Given the description of an element on the screen output the (x, y) to click on. 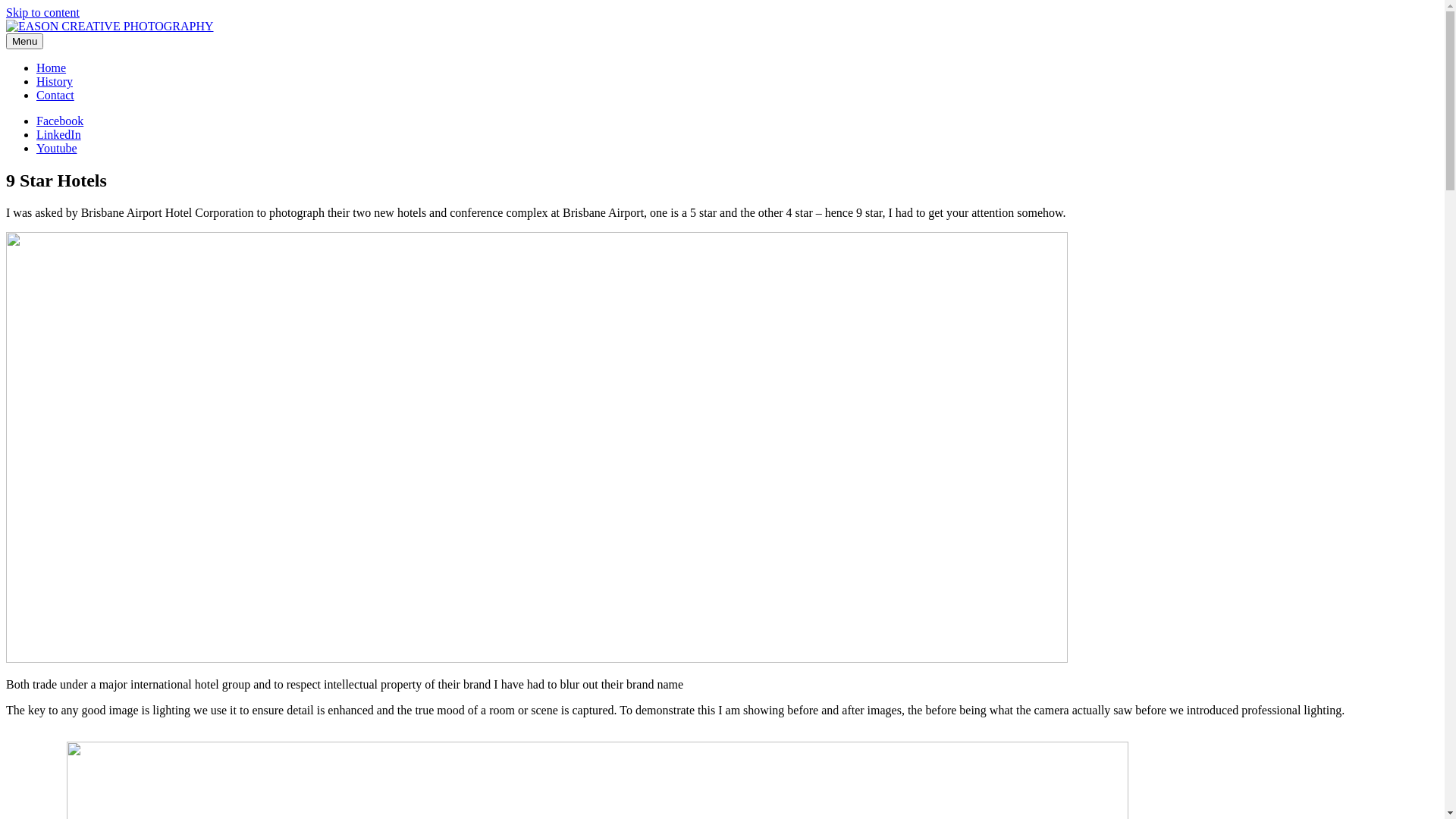
LinkedIn Element type: text (58, 134)
EASON CREATIVE PHOTOGRAPHY Element type: text (103, 51)
Facebook Element type: text (59, 120)
Skip to content Element type: text (42, 12)
Contact Element type: text (55, 94)
History Element type: text (54, 81)
Youtube Element type: text (56, 147)
Menu Element type: text (24, 41)
Home Element type: text (50, 67)
